Given the description of an element on the screen output the (x, y) to click on. 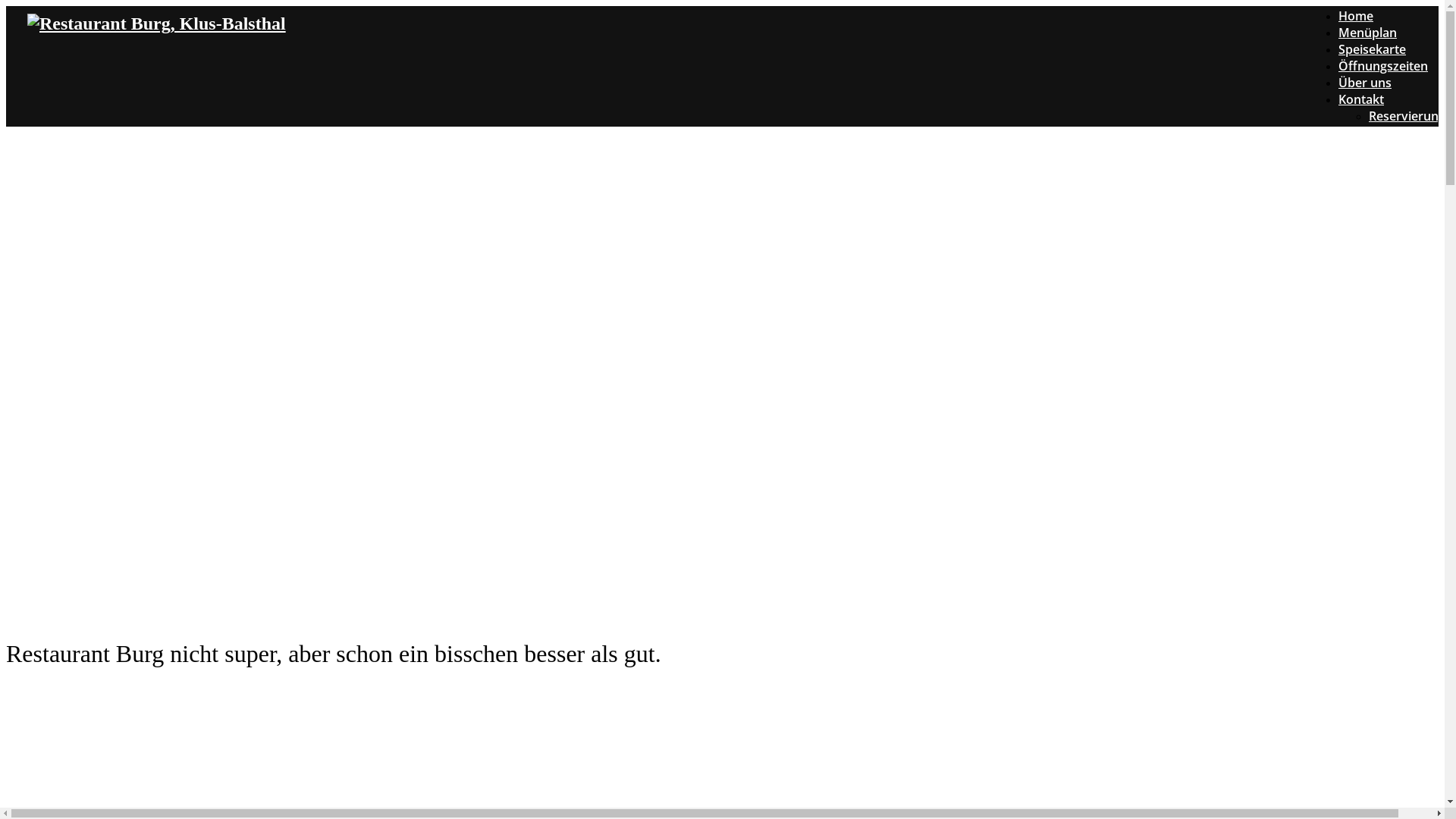
Restaurant Burg, Klus-Balsthal Element type: hover (156, 23)
Restaurant Burg, Klus-Balsthal Element type: hover (156, 23)
Kontakt Element type: text (1360, 89)
Speisekarte Element type: text (1371, 39)
